Given the description of an element on the screen output the (x, y) to click on. 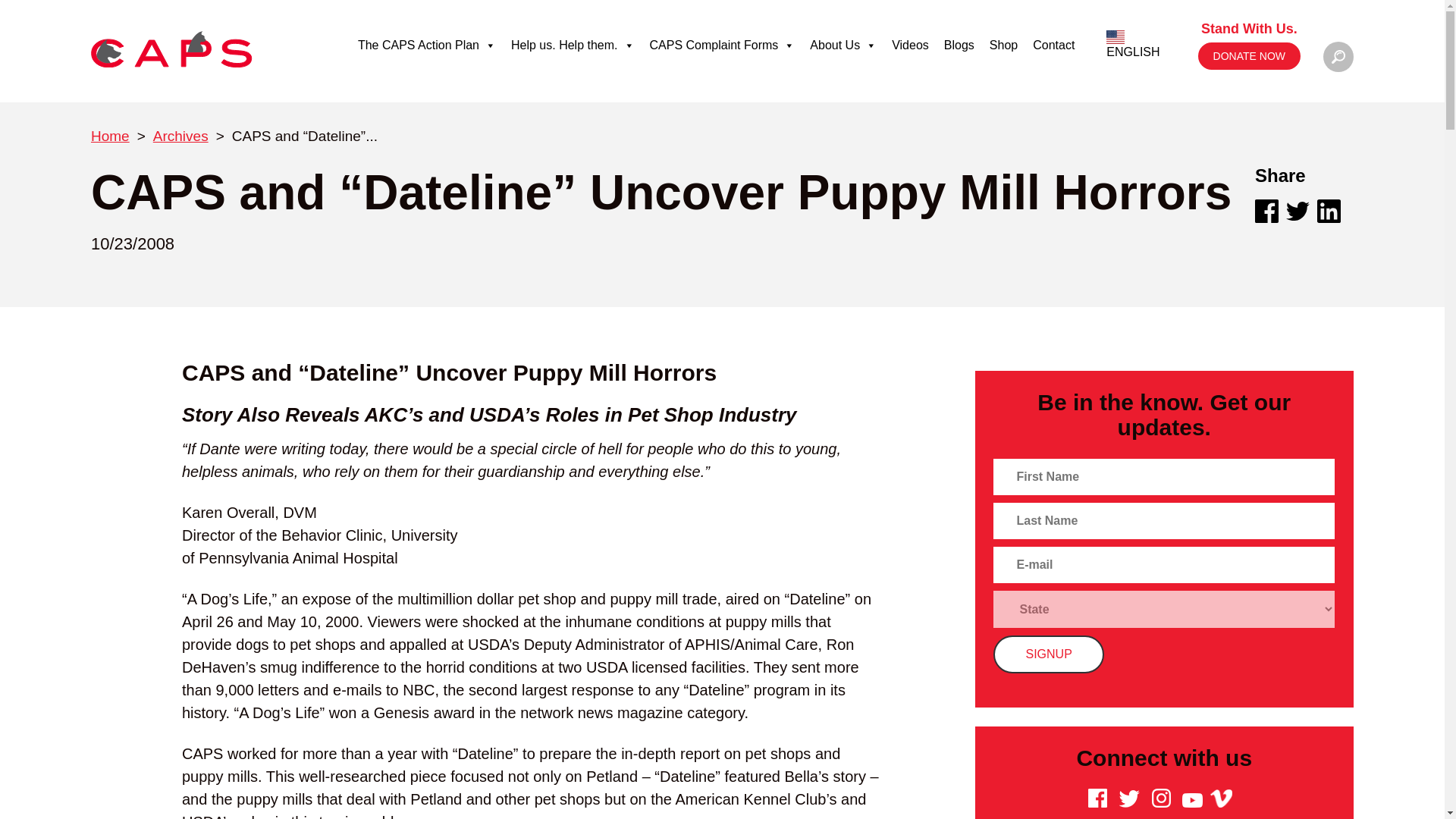
Shop (1003, 45)
The CAPS Action Plan (426, 45)
Blogs (958, 45)
CAPS Complaint Forms (722, 45)
DONATE NOW (1249, 55)
Share on LinkedIn (1328, 210)
Share on Facebook (1266, 210)
Help us. Help them. (572, 45)
Share on Twitter (1296, 210)
About Us (842, 45)
